Given the description of an element on the screen output the (x, y) to click on. 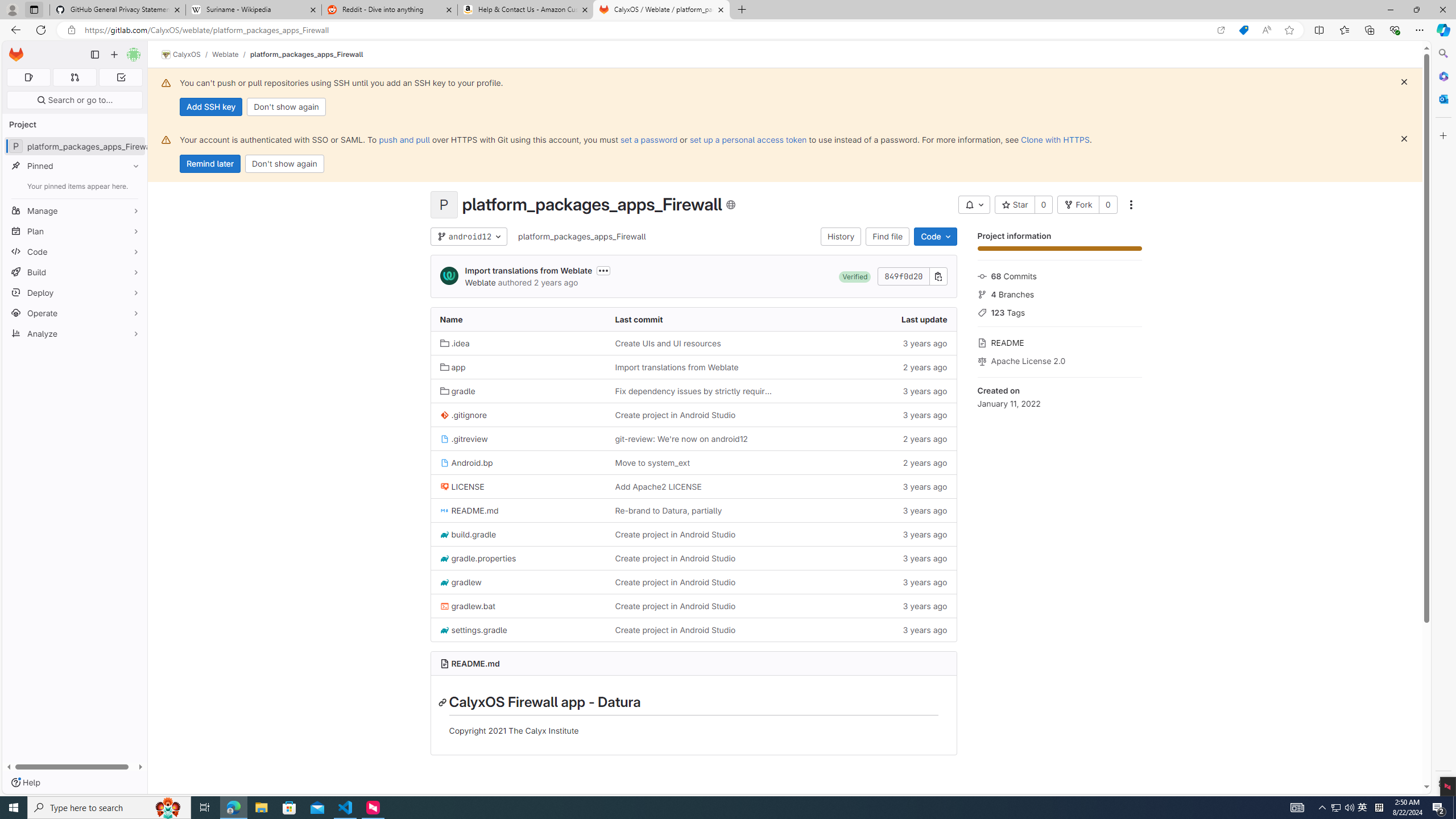
platform_packages_apps_Firewall (582, 235)
Code (935, 236)
settings.gradle (517, 629)
android12 (468, 236)
GitHub General Privacy Statement - GitHub Docs (117, 9)
Plan (74, 230)
Move to system_ext (693, 462)
P platform_packages_apps_Firewall (74, 145)
app (517, 366)
gradle.properties (477, 558)
0 (1107, 204)
Weblate (480, 282)
gradle (457, 390)
